Given the description of an element on the screen output the (x, y) to click on. 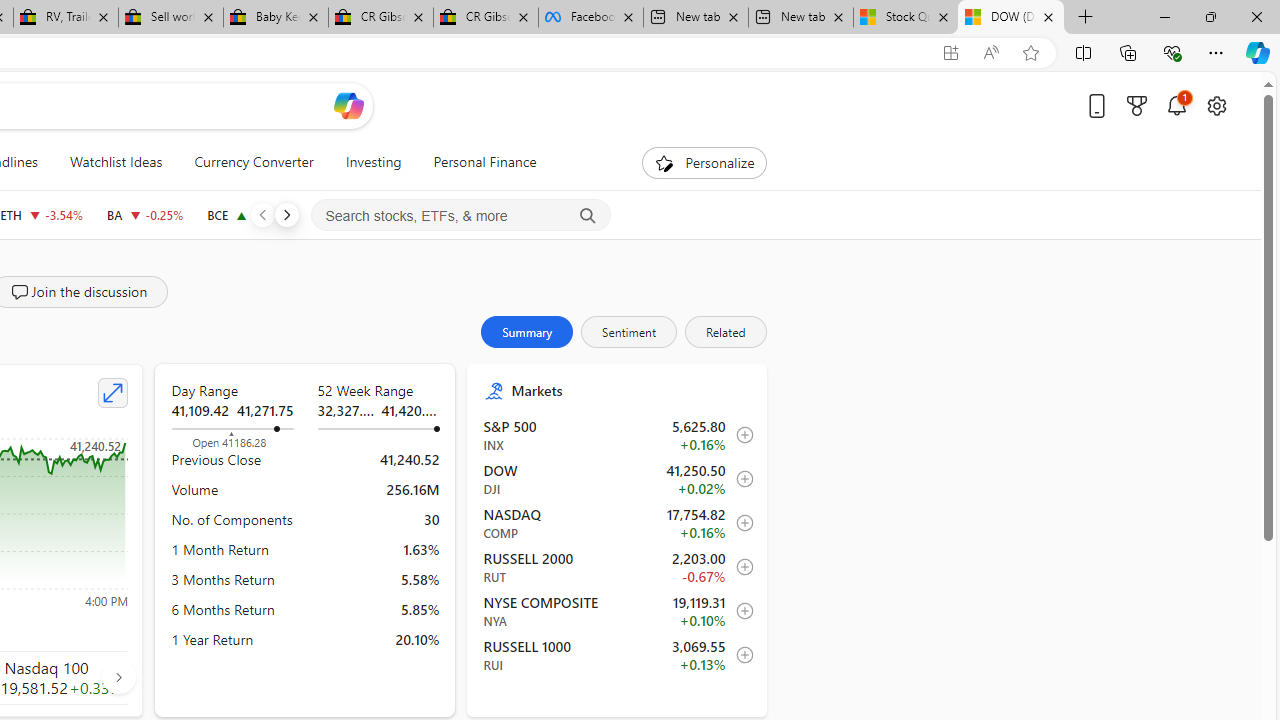
Microsoft rewards (1137, 105)
DJI DOW increase 41,250.50 +9.98 +0.02% itemundefined (617, 479)
AutomationID: finance_carousel_navi_arrow (118, 676)
Personal Finance (477, 162)
COMP NASDAQ increase 17,754.82 +29.06 +0.16% itemundefined (617, 523)
Personal Finance (484, 162)
